Given the description of an element on the screen output the (x, y) to click on. 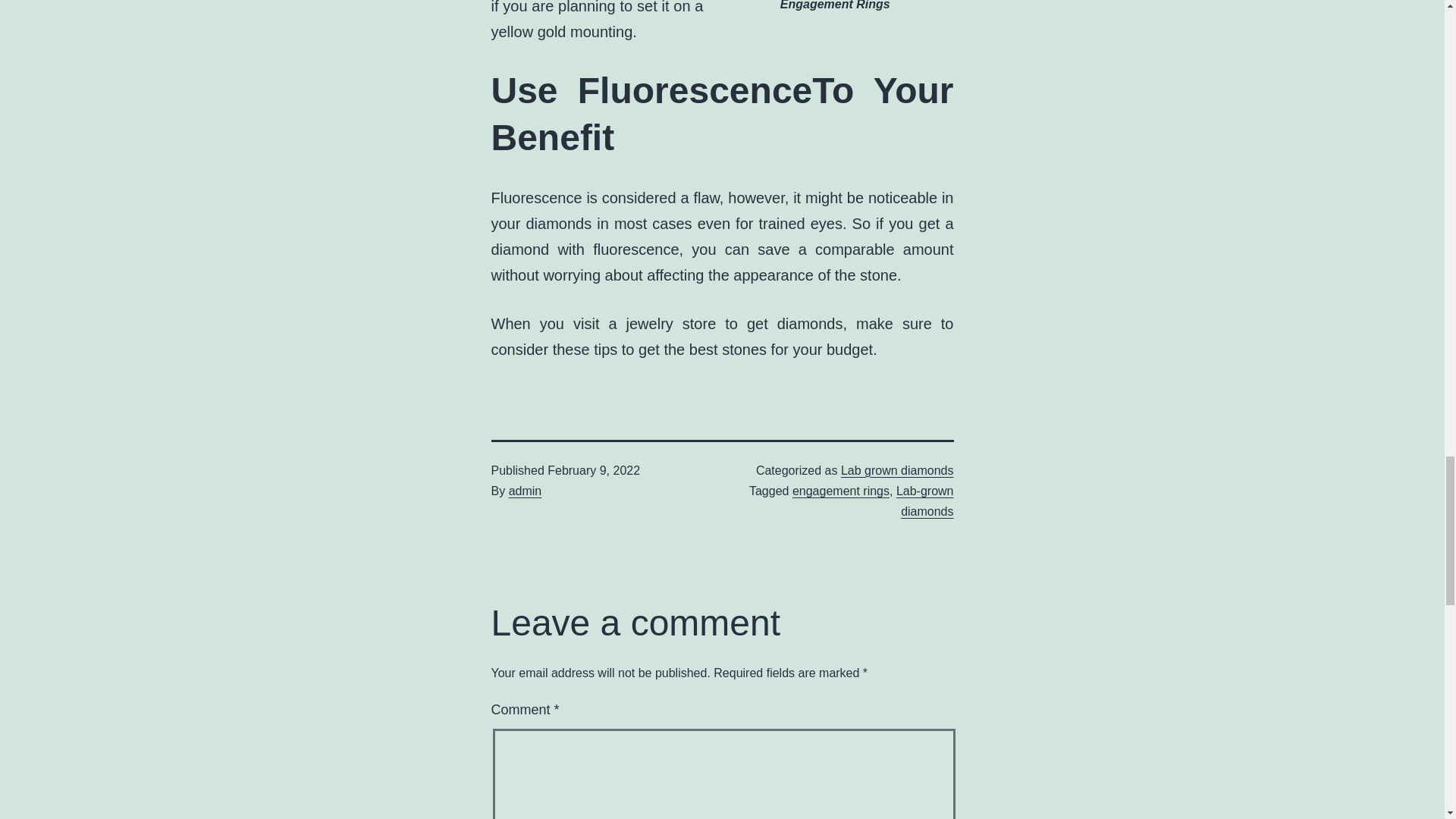
Lab grown diamonds (897, 470)
admin (524, 490)
Lab-grown diamonds (924, 500)
engagement rings (840, 490)
